Given the description of an element on the screen output the (x, y) to click on. 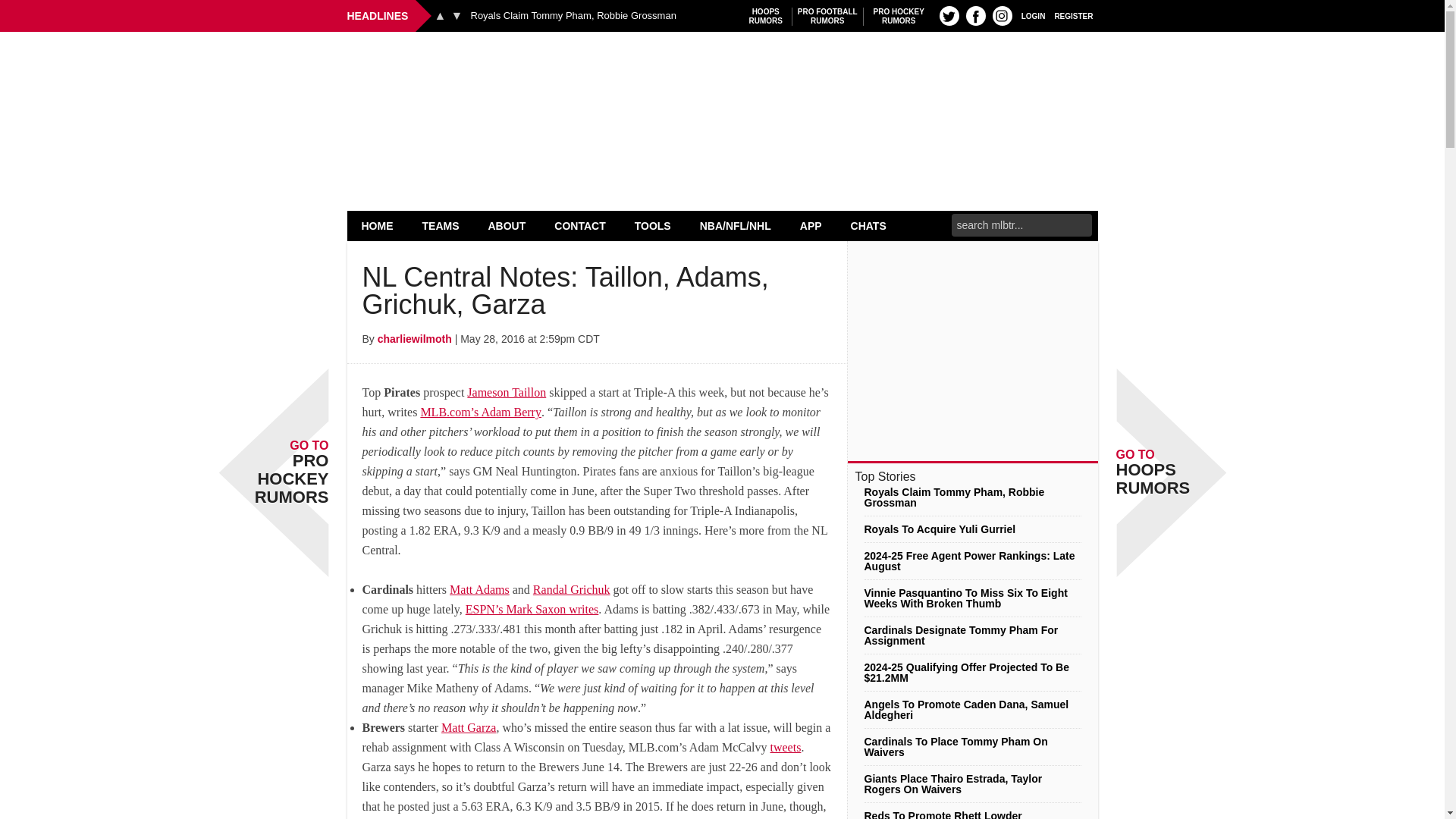
LOGIN (1032, 15)
Next (765, 16)
Twitter profile (456, 15)
FB profile (827, 16)
Search (949, 15)
REGISTER (975, 15)
